Given the description of an element on the screen output the (x, y) to click on. 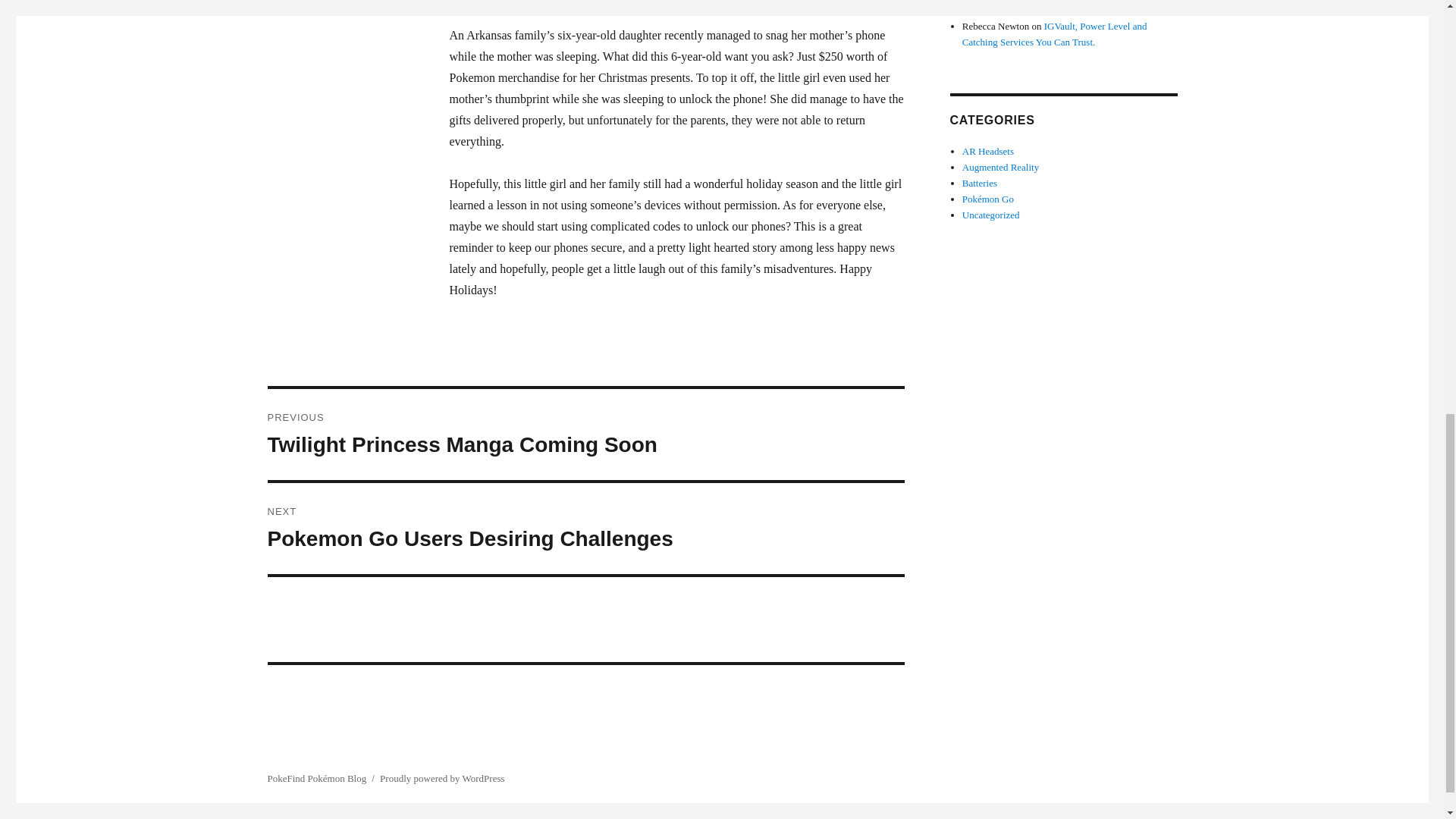
AR Headsets (585, 434)
New Pokemon Possibly Coming To Go (987, 151)
IGVault, Power Level and Catching Services You Can Trust. (1079, 9)
Batteries (1054, 33)
Uncategorized (979, 183)
Augmented Reality (585, 528)
Proudly powered by WordPress (991, 214)
